Given the description of an element on the screen output the (x, y) to click on. 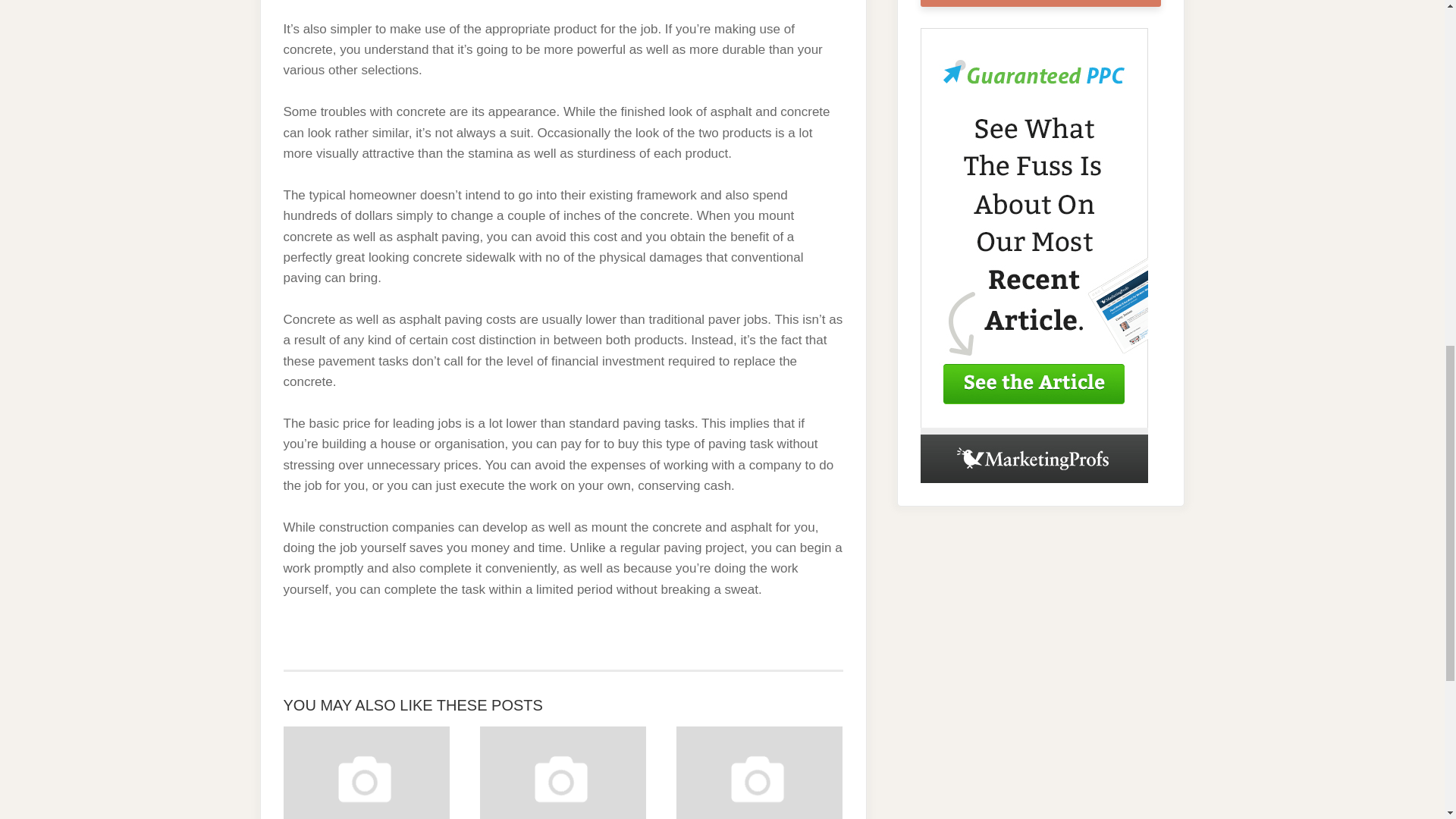
The Importance of Mobile Trucking (366, 772)
Hiring a Wollongong Electrician (563, 772)
Hiring a Wollongong Electrician (563, 772)
The Importance of Mobile Trucking (366, 772)
